Given the description of an element on the screen output the (x, y) to click on. 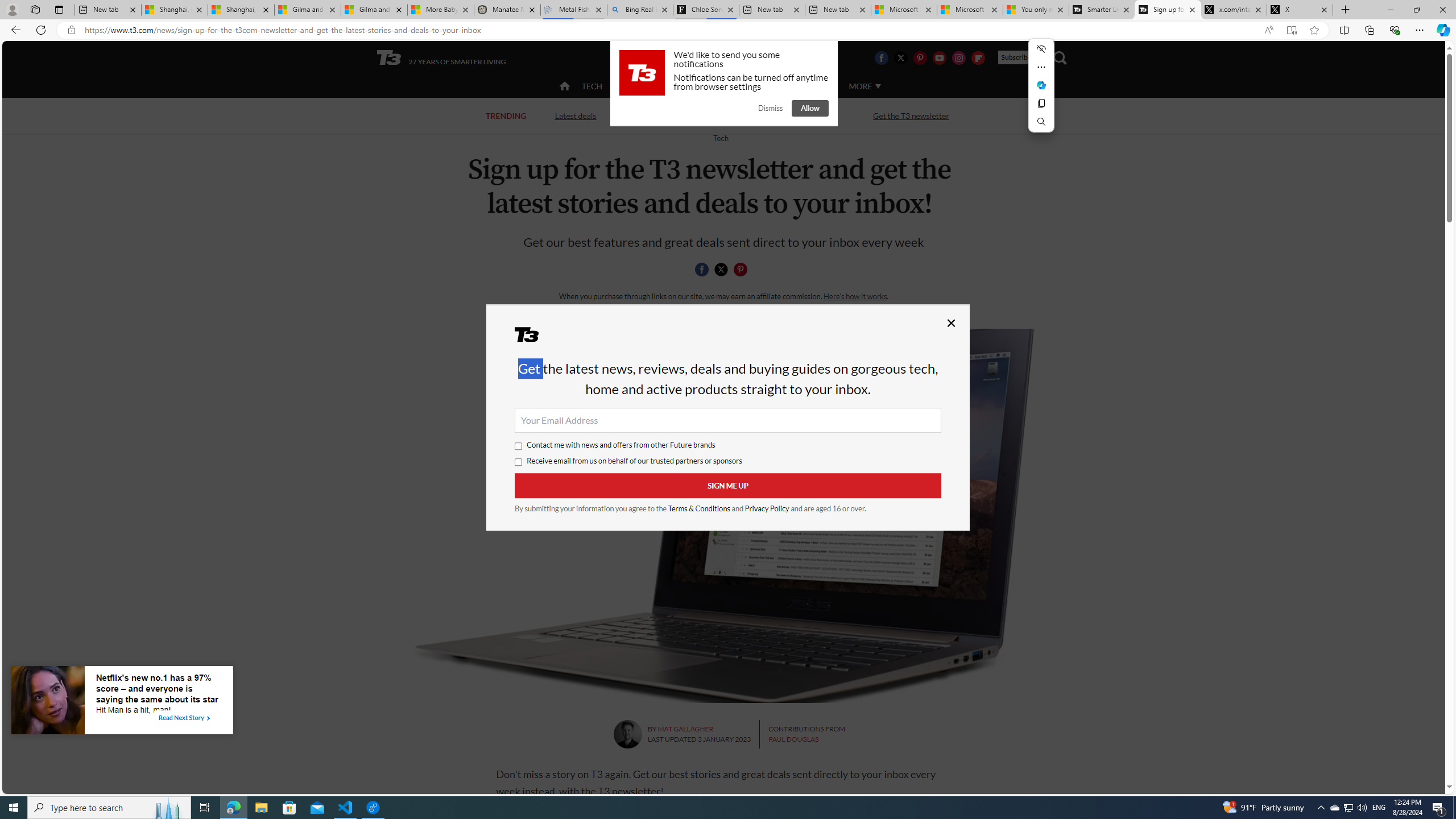
Chloe Sorvino (706, 9)
Subscribe (1020, 56)
Visit us on Flipboard (978, 57)
Visit us on Pintrest (919, 57)
flag of UK (752, 57)
Mat Gallagher (627, 734)
MORE  (863, 86)
Tech (720, 137)
Back to Class 2024 (669, 115)
